Given the description of an element on the screen output the (x, y) to click on. 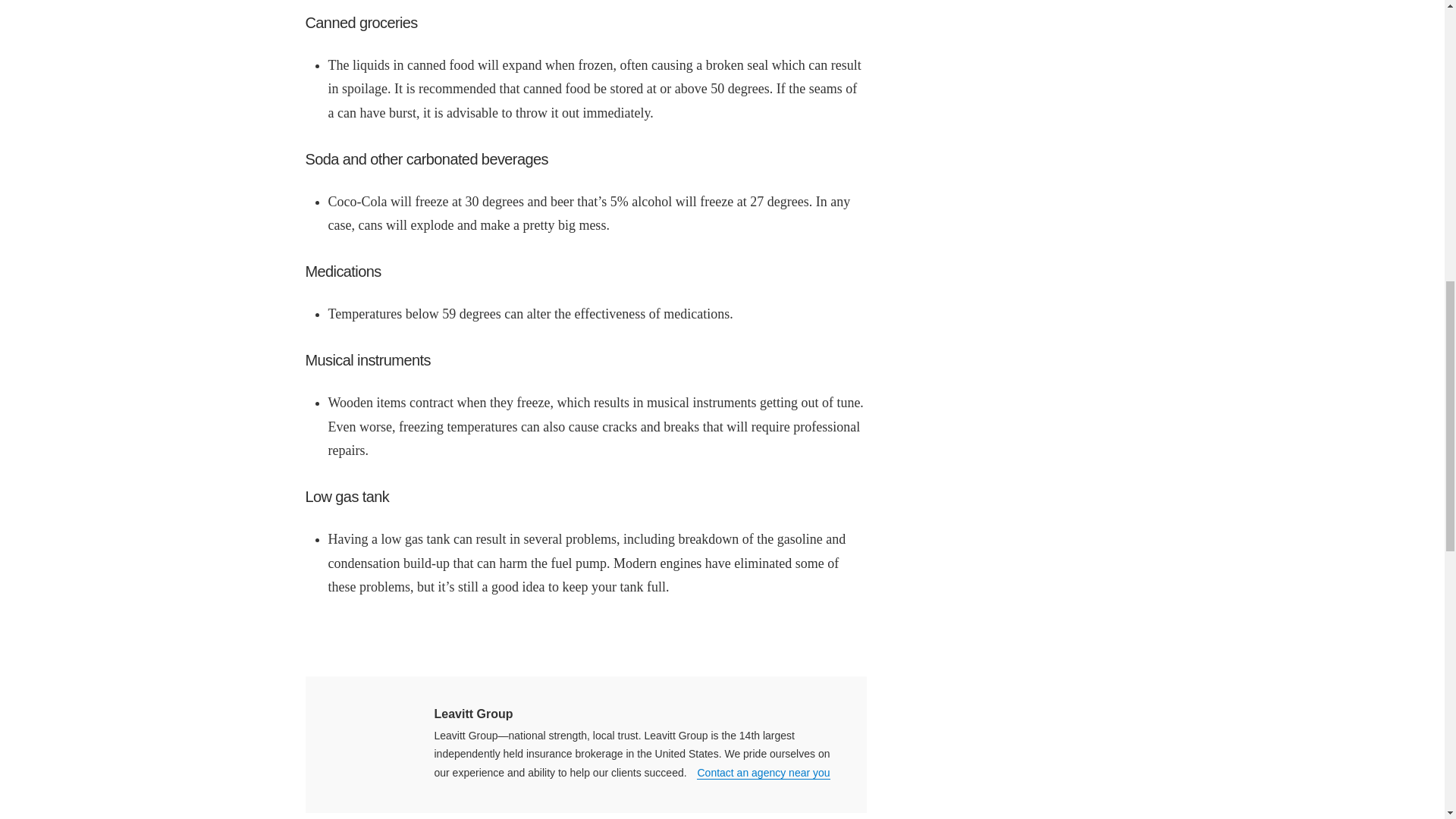
Contact an agency near you (763, 772)
View all posts by Leavitt Group (472, 713)
Leavitt Group (472, 713)
